Given the description of an element on the screen output the (x, y) to click on. 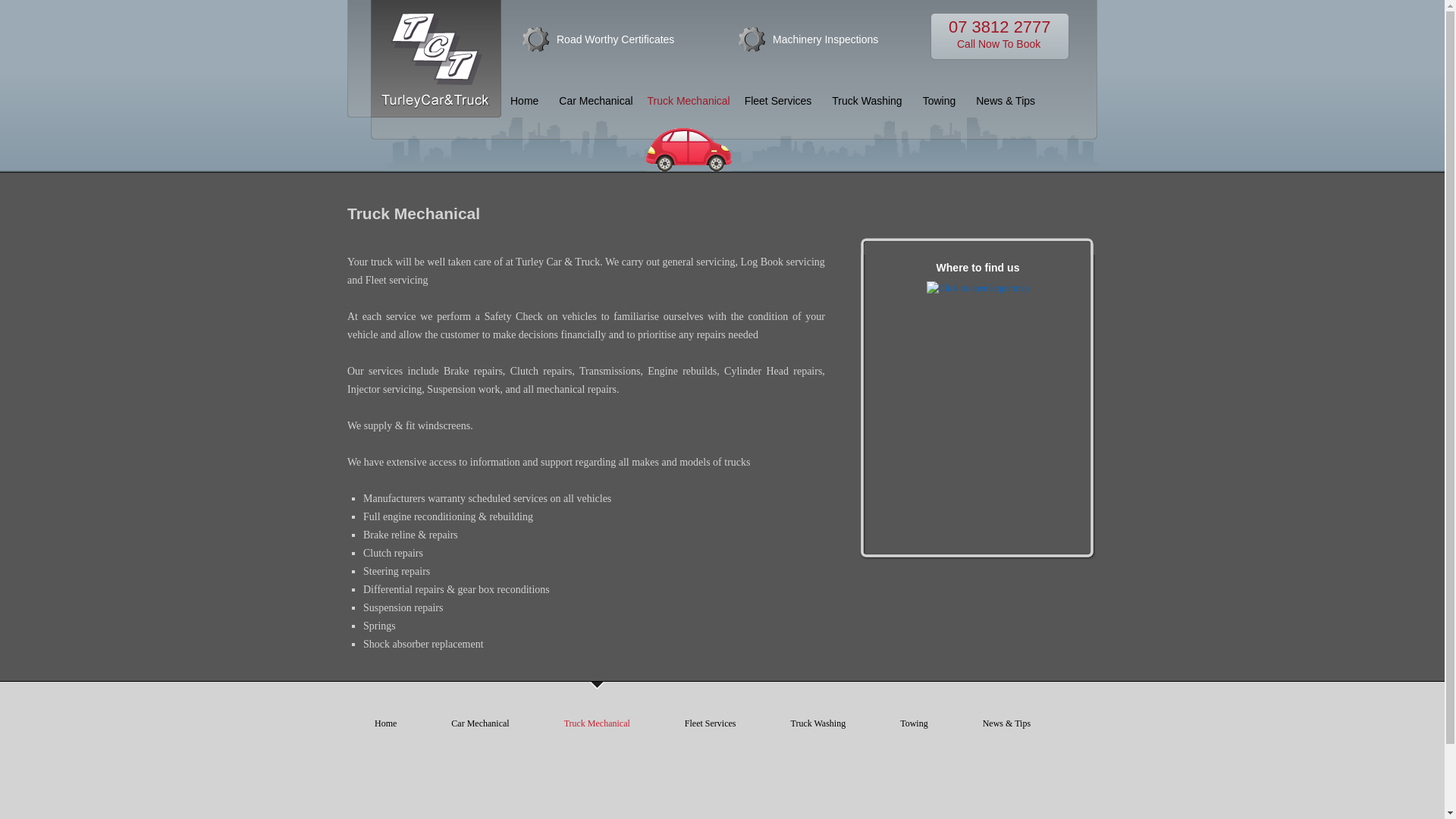
Fleet Services (777, 100)
Mechanical Repairs Ipswich (595, 100)
Fleet Services (710, 723)
Car Mechanical (479, 723)
Truck Washing (818, 723)
Home (524, 100)
Truck Mechanical (999, 36)
turleys.com.au (596, 723)
Mechanical Repairs Ipswich (435, 109)
